Given the description of an element on the screen output the (x, y) to click on. 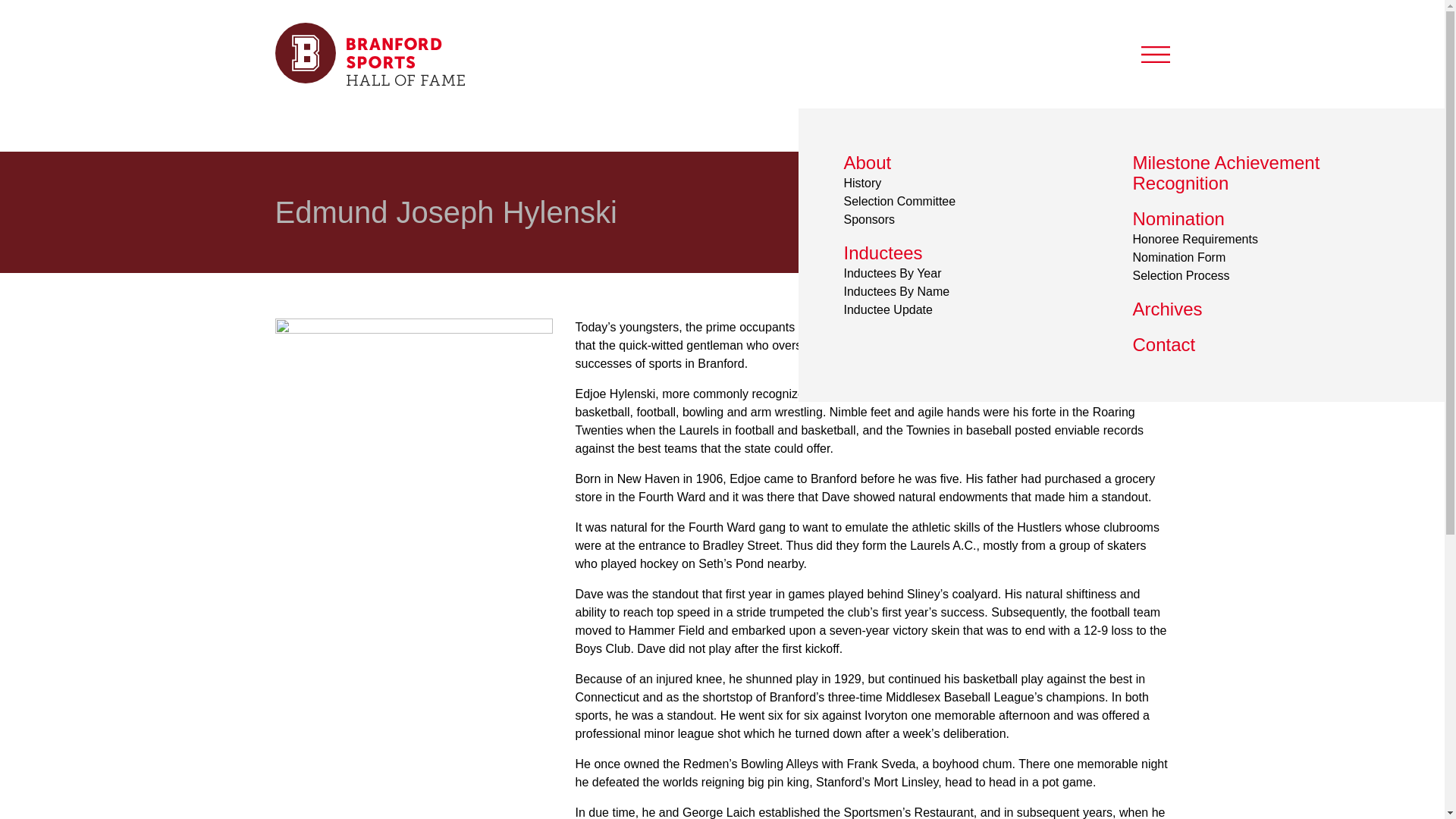
About (867, 162)
Honoree Requirements (1194, 238)
Inductees by Year (953, 211)
Inductees (882, 252)
Inductee Update (887, 309)
Nomination (1178, 218)
Search (1085, 122)
Sponsors (869, 219)
Archives (1167, 308)
Inductees By Year (891, 273)
